Given the description of an element on the screen output the (x, y) to click on. 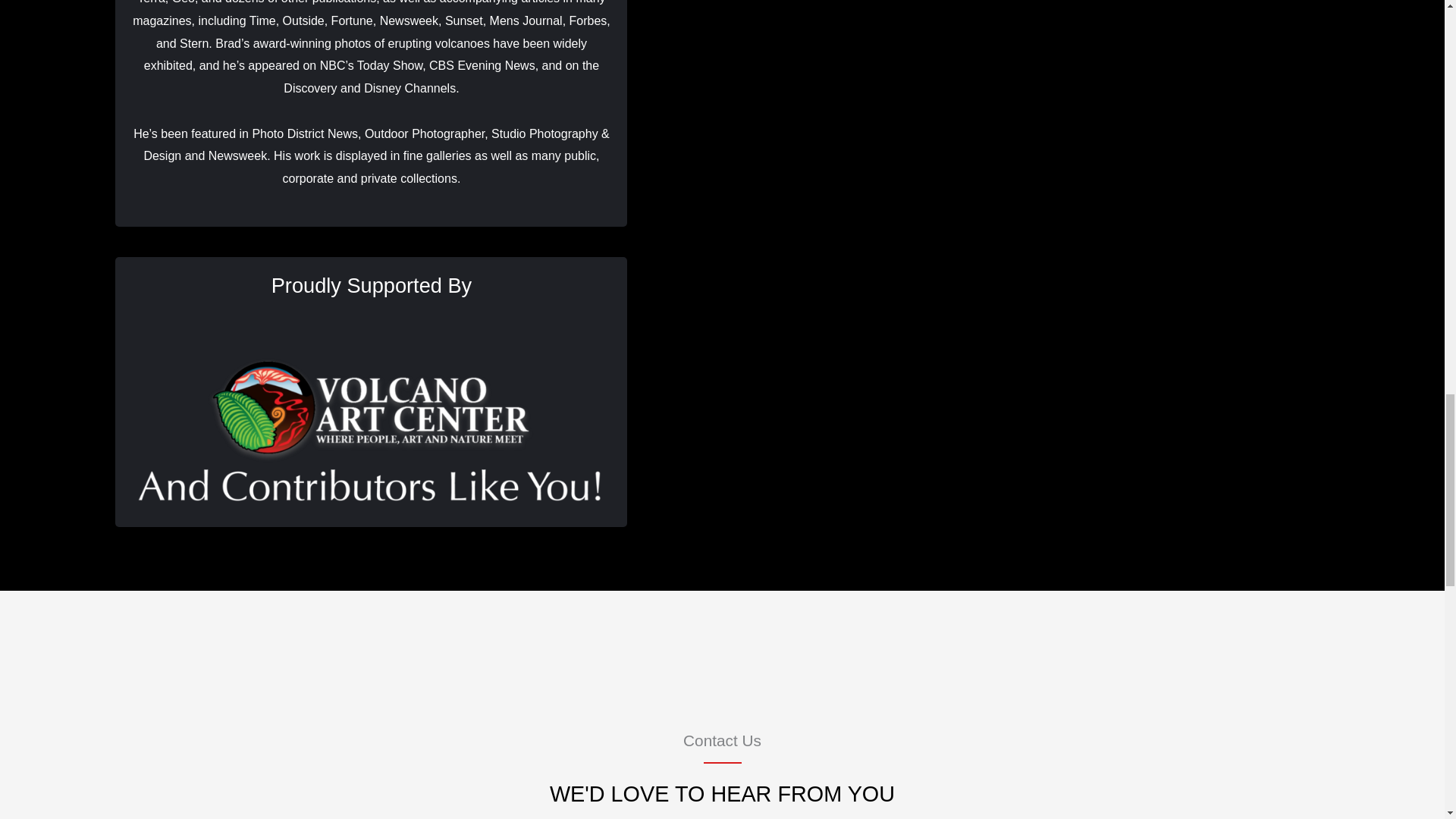
VASC Mahalo (371, 420)
